Given the description of an element on the screen output the (x, y) to click on. 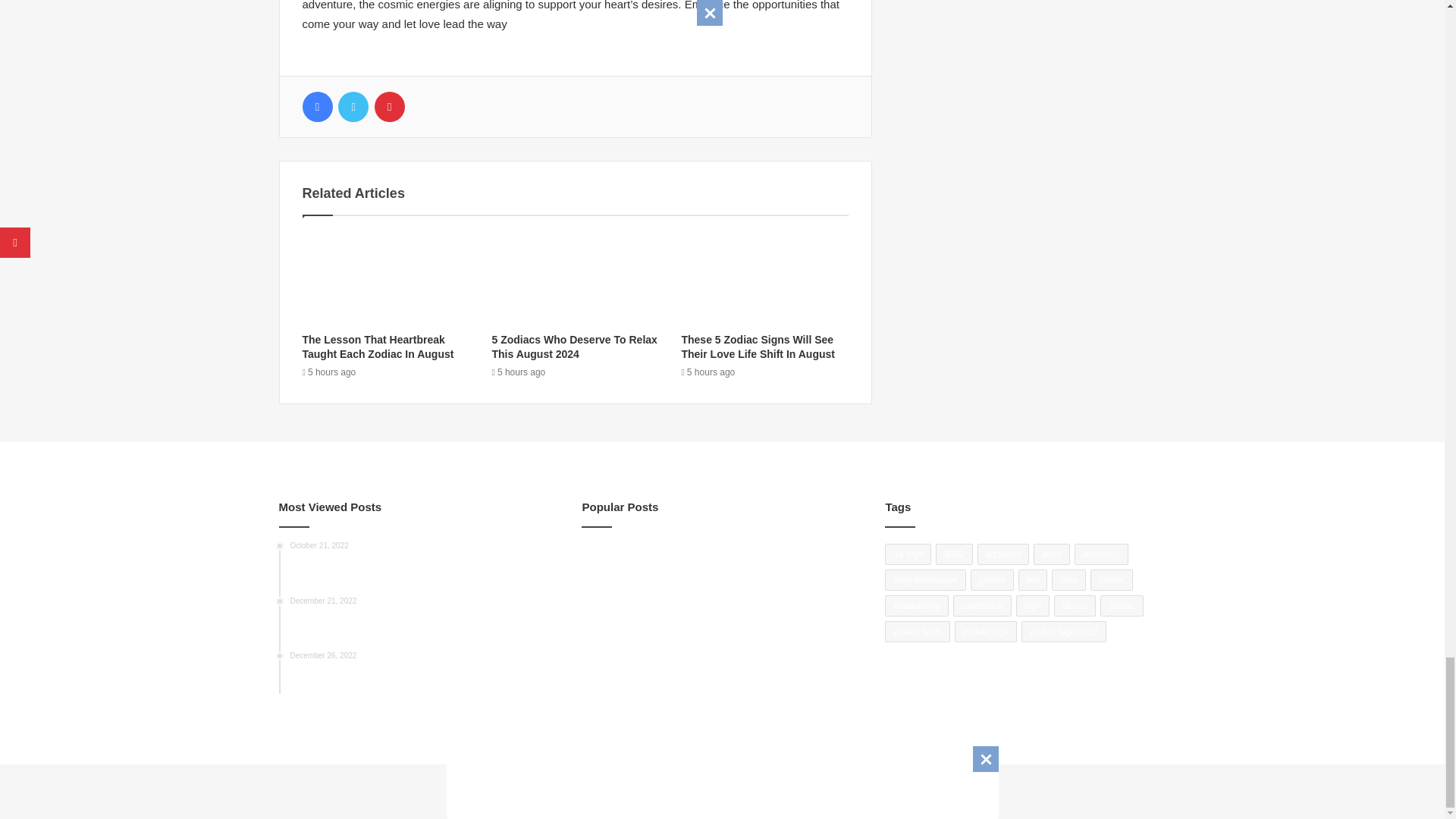
Twitter (352, 106)
Facebook (316, 106)
Facebook (316, 106)
Pinterest (389, 106)
5 Zodiacs Who Deserve To Relax This August 2024 (574, 346)
The Lesson That Heartbreak Taught Each Zodiac In August (376, 346)
